Given the description of an element on the screen output the (x, y) to click on. 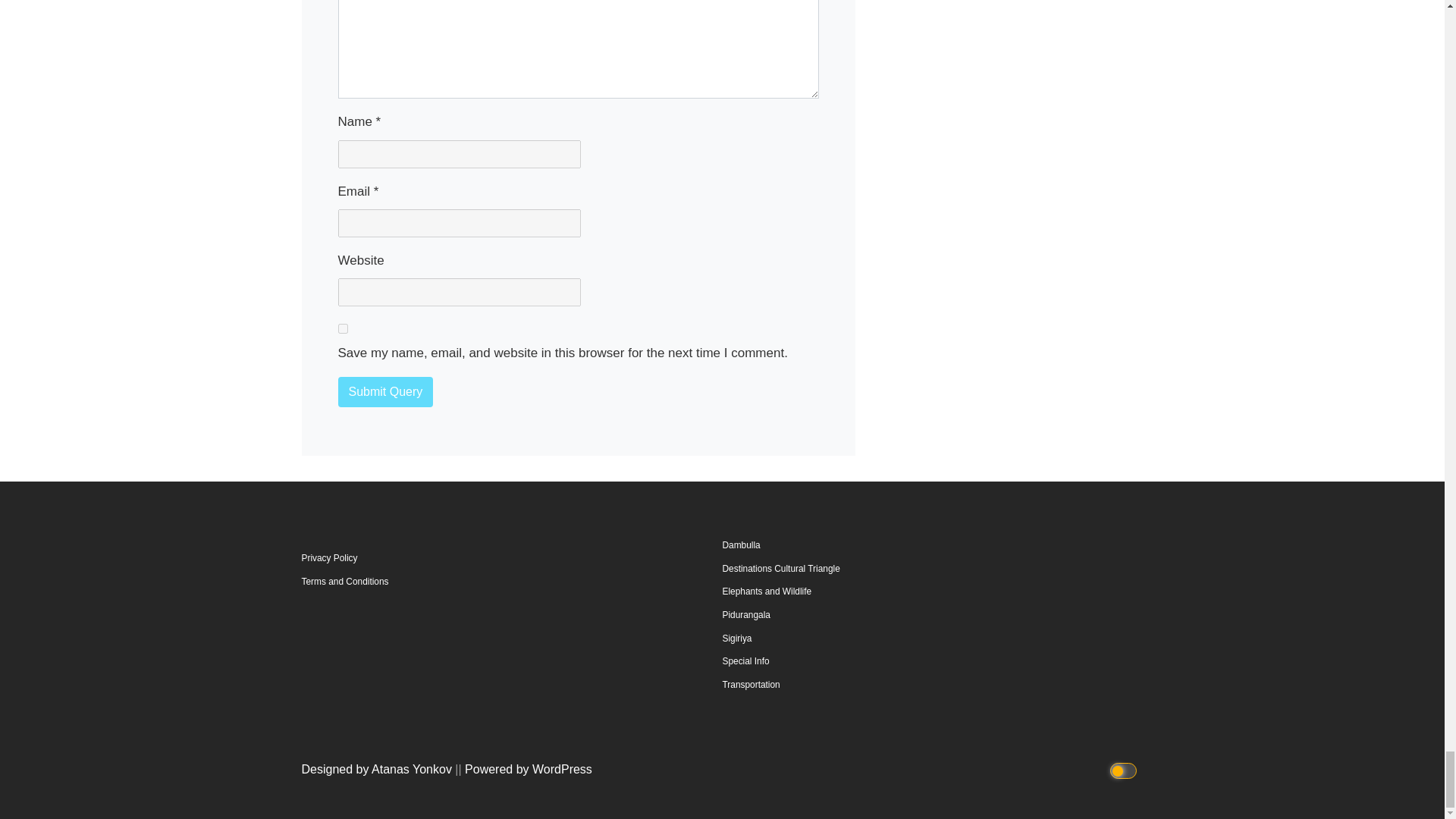
yes (342, 328)
Submit Query (385, 391)
